Given the description of an element on the screen output the (x, y) to click on. 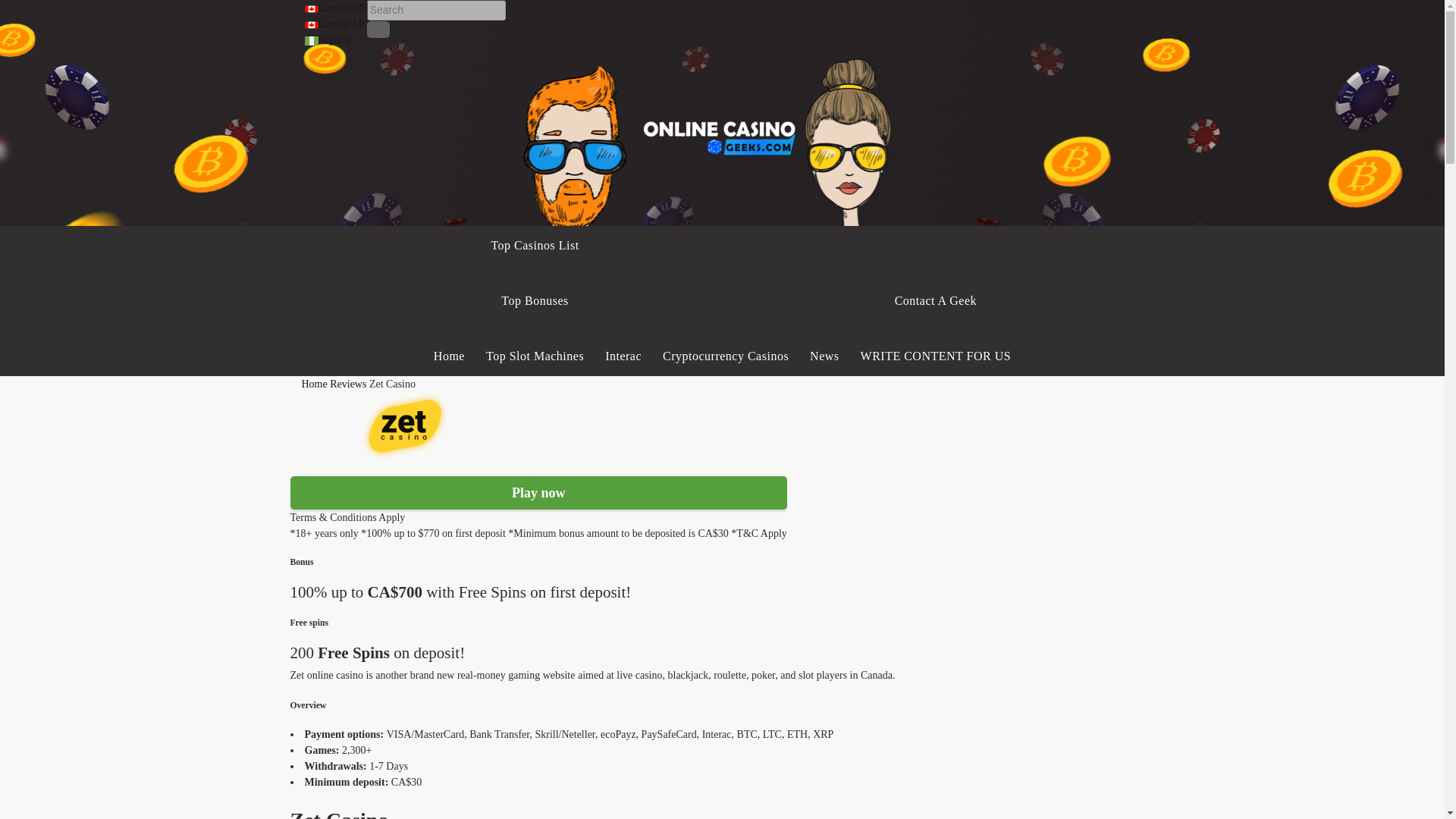
Contact A Geek (935, 301)
Zet Casino (391, 383)
Canada FR (335, 23)
Nigeria (327, 39)
Top Slot Machines (534, 355)
WRITE CONTENT FOR US (935, 355)
Play now (537, 492)
Canada EN (335, 7)
Cryptocurrency Casinos (725, 355)
Top Bonuses (534, 301)
